Given the description of an element on the screen output the (x, y) to click on. 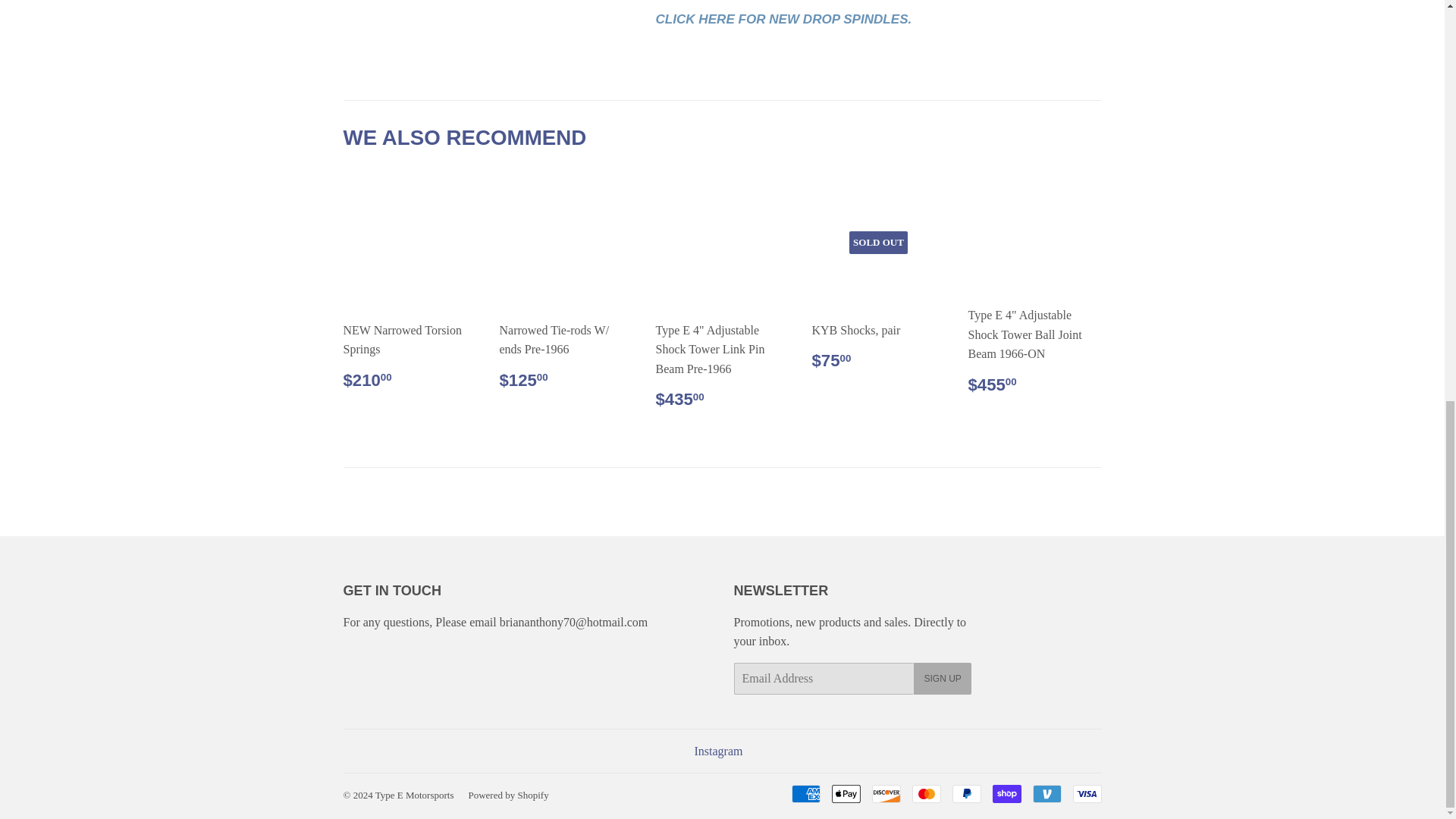
PayPal (966, 793)
American Express (806, 793)
Apple Pay (845, 793)
Visa (1085, 793)
Type E Motorsports on Instagram (718, 750)
Venmo (1046, 793)
Shop Pay (1005, 793)
Discover (886, 793)
Mastercard (925, 793)
